Given the description of an element on the screen output the (x, y) to click on. 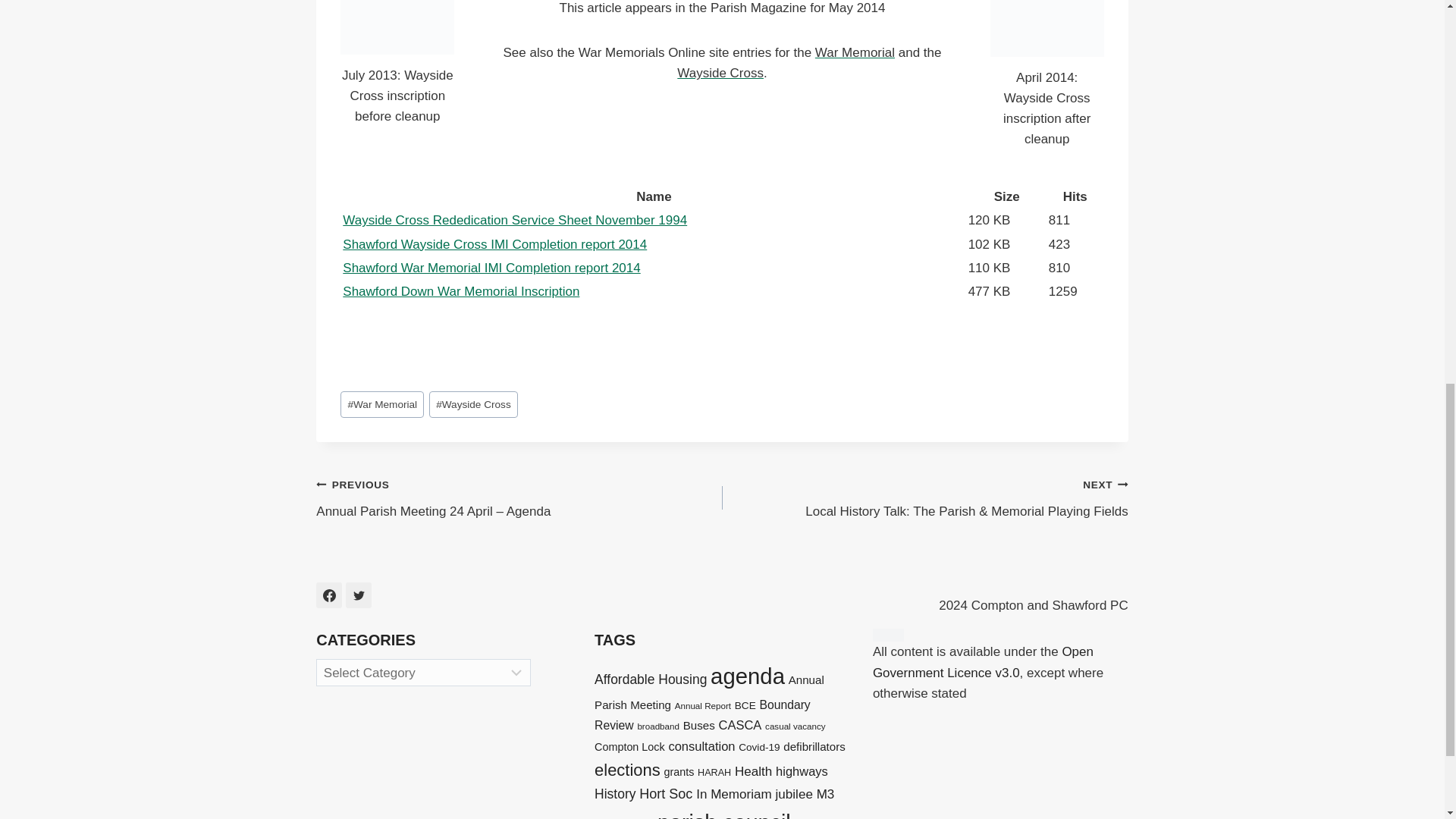
Wayside Cross (473, 404)
War Memorial (381, 404)
Wayside Cross record on War Memorials Online (719, 73)
War Memorial record on War Memorials Online (855, 52)
